Given the description of an element on the screen output the (x, y) to click on. 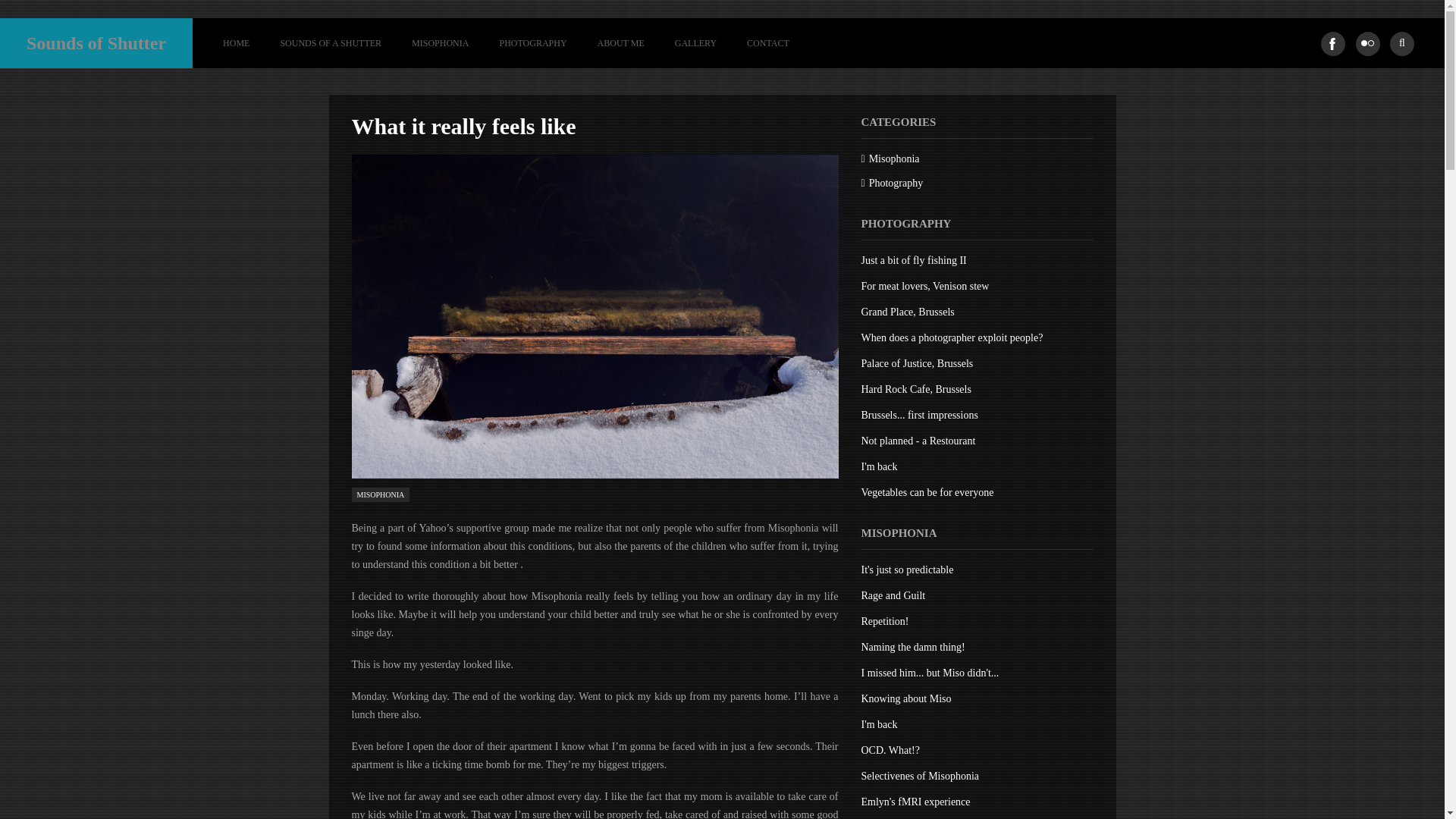
SOUNDS OF A SHUTTER (330, 42)
MISOPHONIA (381, 494)
ABOUT ME (620, 42)
GALLERY (695, 42)
PHOTOGRAPHY (531, 42)
MISOPHONIA (439, 42)
Just a bit of fly fishing II (913, 260)
HOME (236, 42)
For meat lovers, Venison stew (925, 285)
Grand Place, Brussels (908, 311)
CONTACT (760, 42)
Sounds of Shutter (95, 42)
